Given the description of an element on the screen output the (x, y) to click on. 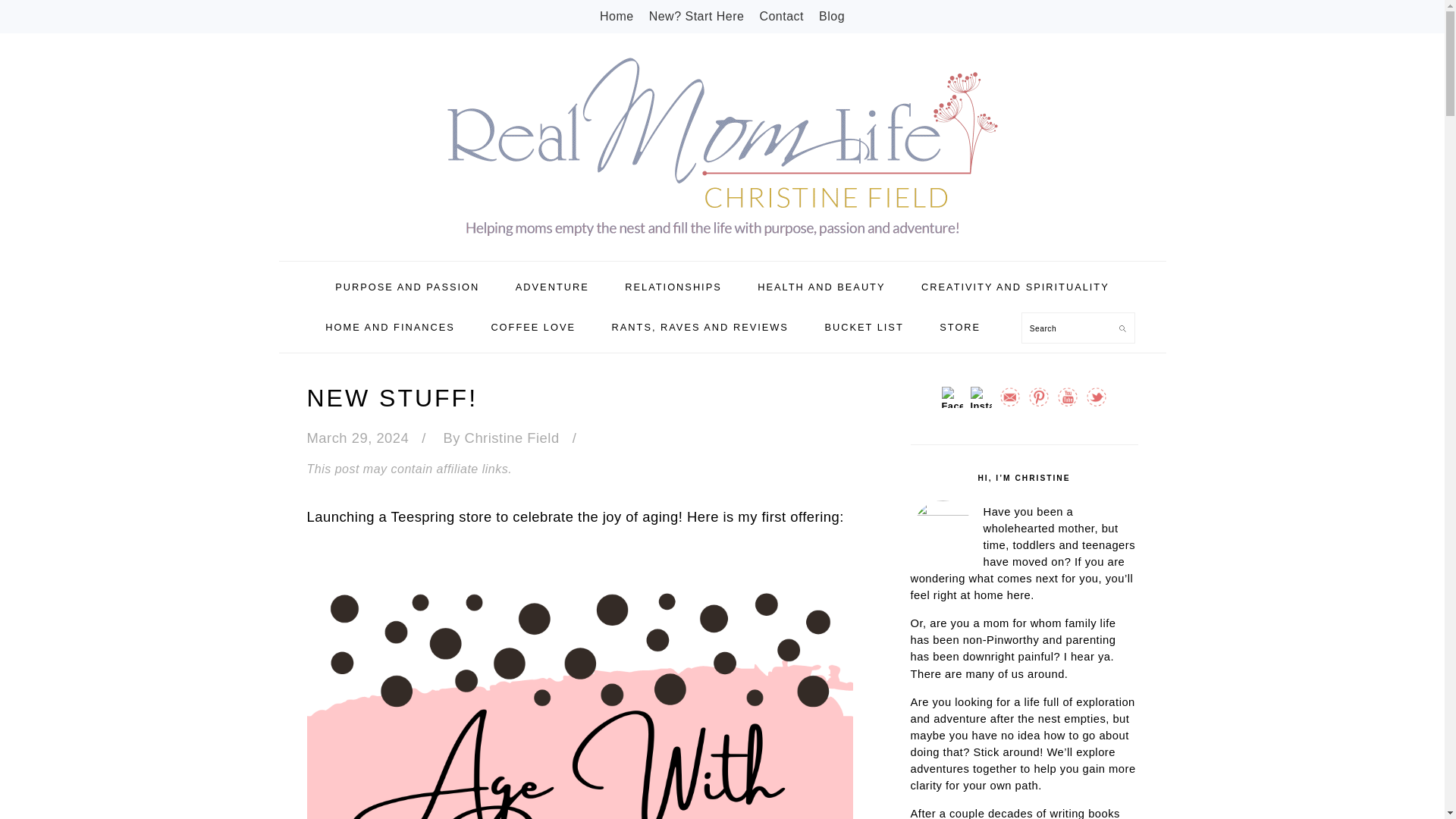
Real Mom Life (721, 147)
New? Start Here (696, 15)
ADVENTURE (552, 286)
PURPOSE AND PASSION (406, 286)
Home (616, 15)
Blog (831, 15)
RELATIONSHIPS (672, 286)
Contact (780, 15)
